Given the description of an element on the screen output the (x, y) to click on. 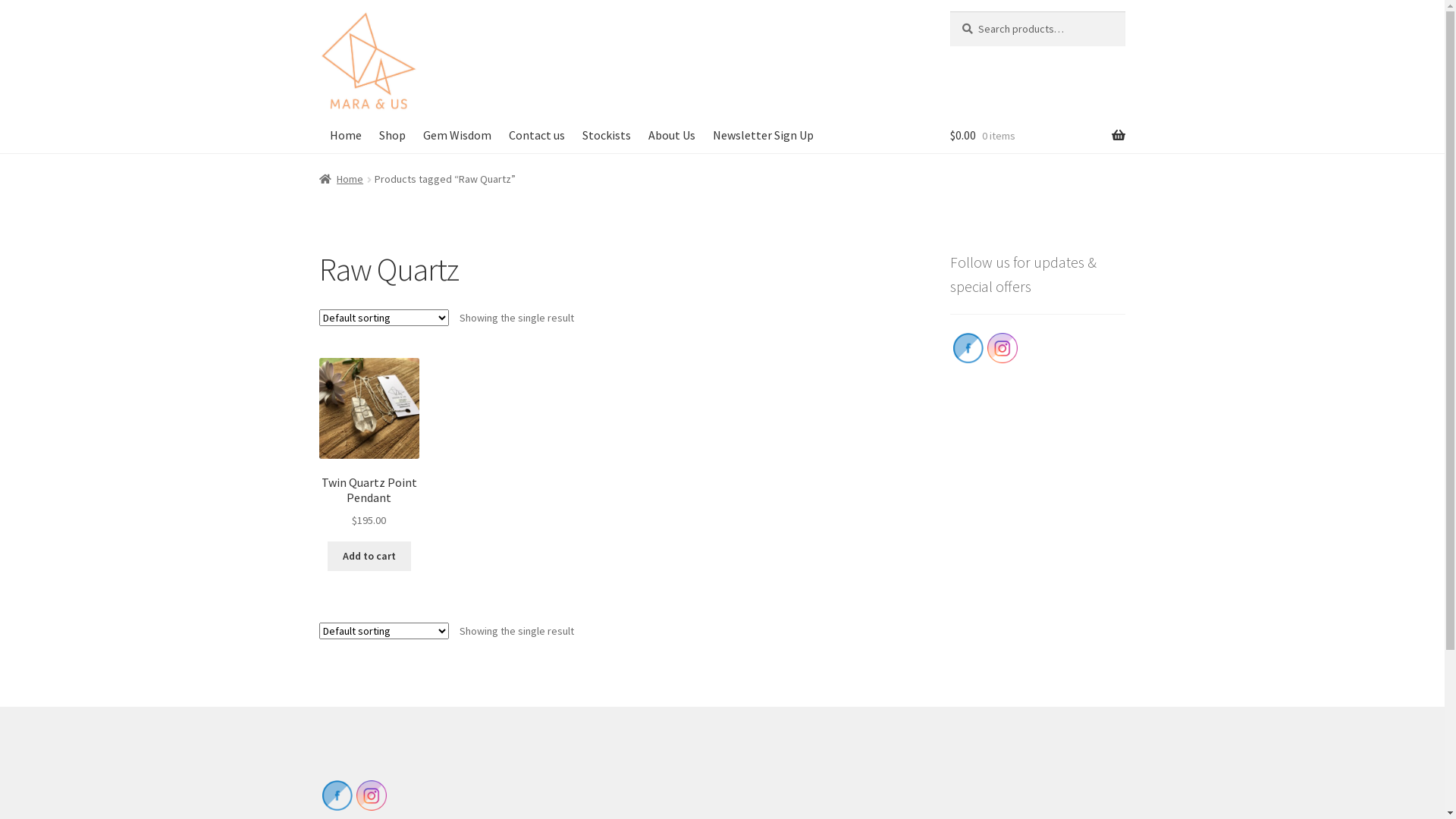
Stockists Element type: text (606, 135)
Contact us Element type: text (536, 135)
$0.00 0 items Element type: text (1037, 135)
Skip to navigation Element type: text (318, 10)
Facebook Element type: hover (337, 795)
Home Element type: text (341, 178)
Facebook Element type: hover (968, 347)
Shop Element type: text (392, 135)
Instagram Element type: hover (1002, 347)
Newsletter Sign Up Element type: text (763, 135)
Instagram Element type: hover (371, 795)
Search Element type: text (949, 10)
Gem Wisdom Element type: text (456, 135)
Home Element type: text (345, 135)
Add to cart Element type: text (369, 556)
About Us Element type: text (671, 135)
Twin Quartz Point Pendant
$195.00 Element type: text (369, 443)
